Given the description of an element on the screen output the (x, y) to click on. 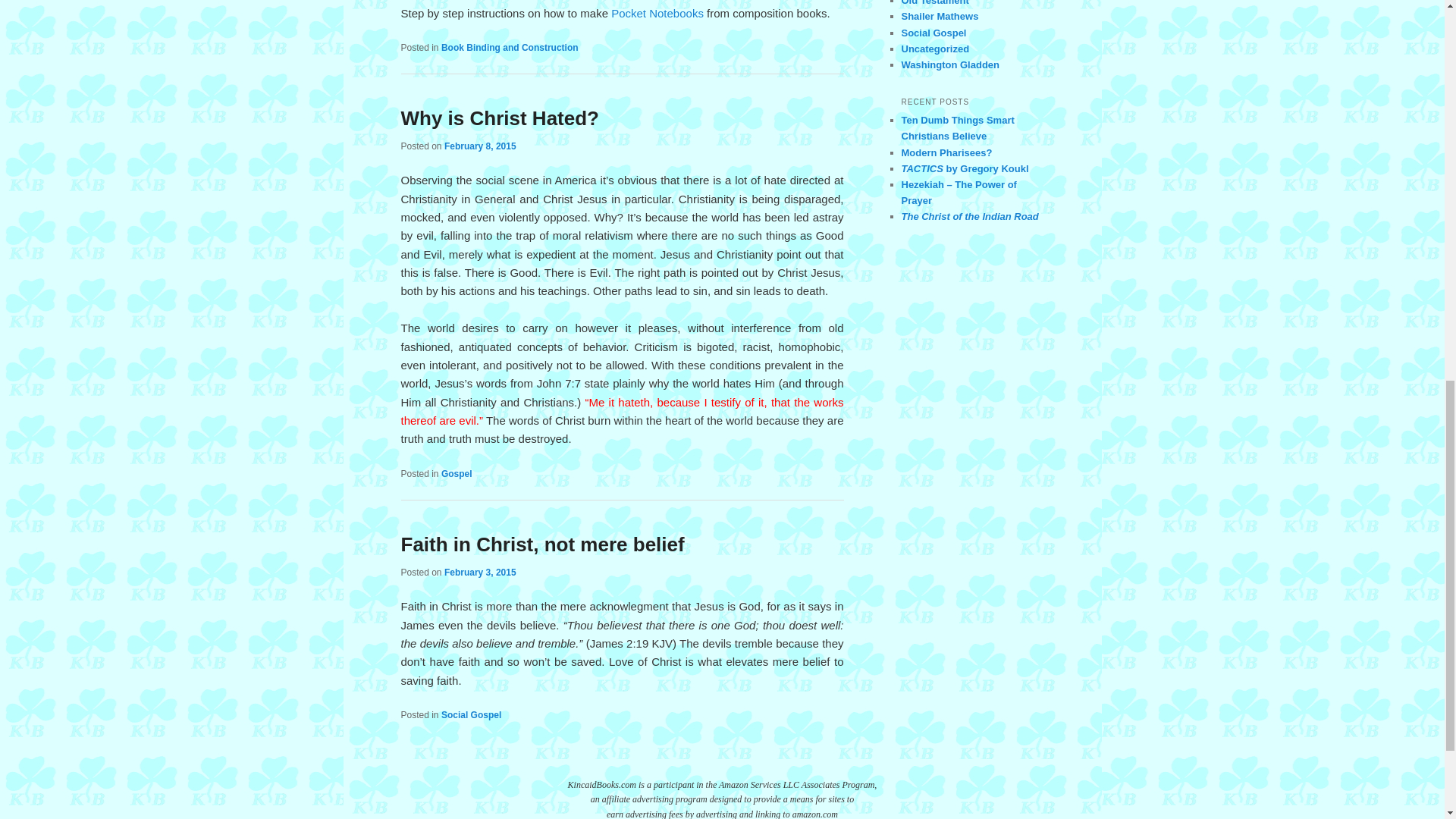
Faith in Christ, not mere belief (542, 544)
21:26 (480, 572)
February 3, 2015 (480, 572)
Pocket Notebooks (657, 12)
Why is Christ Hated? (499, 118)
Social Gospel (470, 715)
February 8, 2015 (480, 145)
15:05 (480, 145)
Book Binding and Construction (509, 47)
Gospel (456, 473)
